Given the description of an element on the screen output the (x, y) to click on. 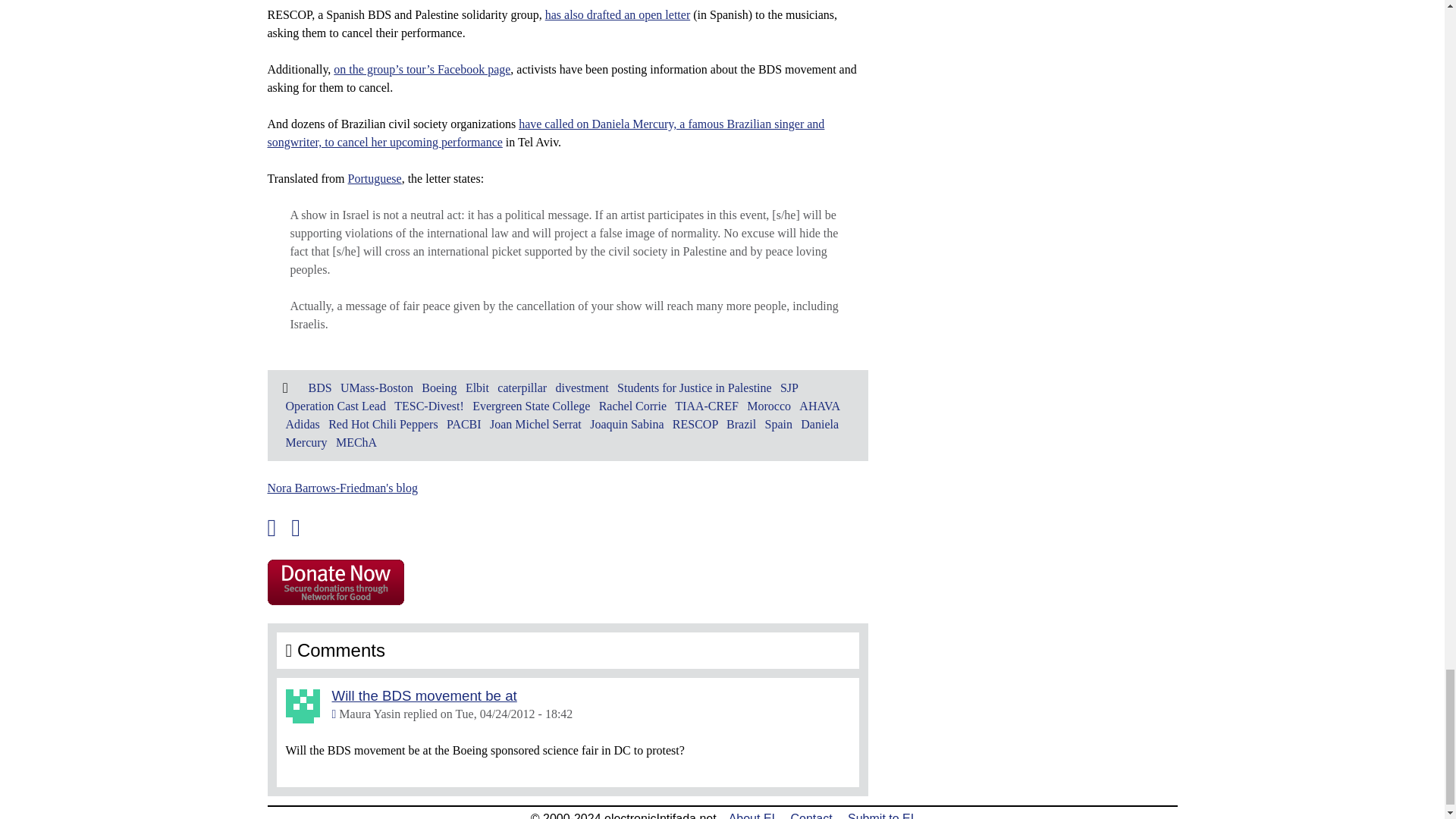
Read Nora Barrows-Friedman's latest blog entries. (341, 487)
has also drafted an open letter (617, 14)
